Given the description of an element on the screen output the (x, y) to click on. 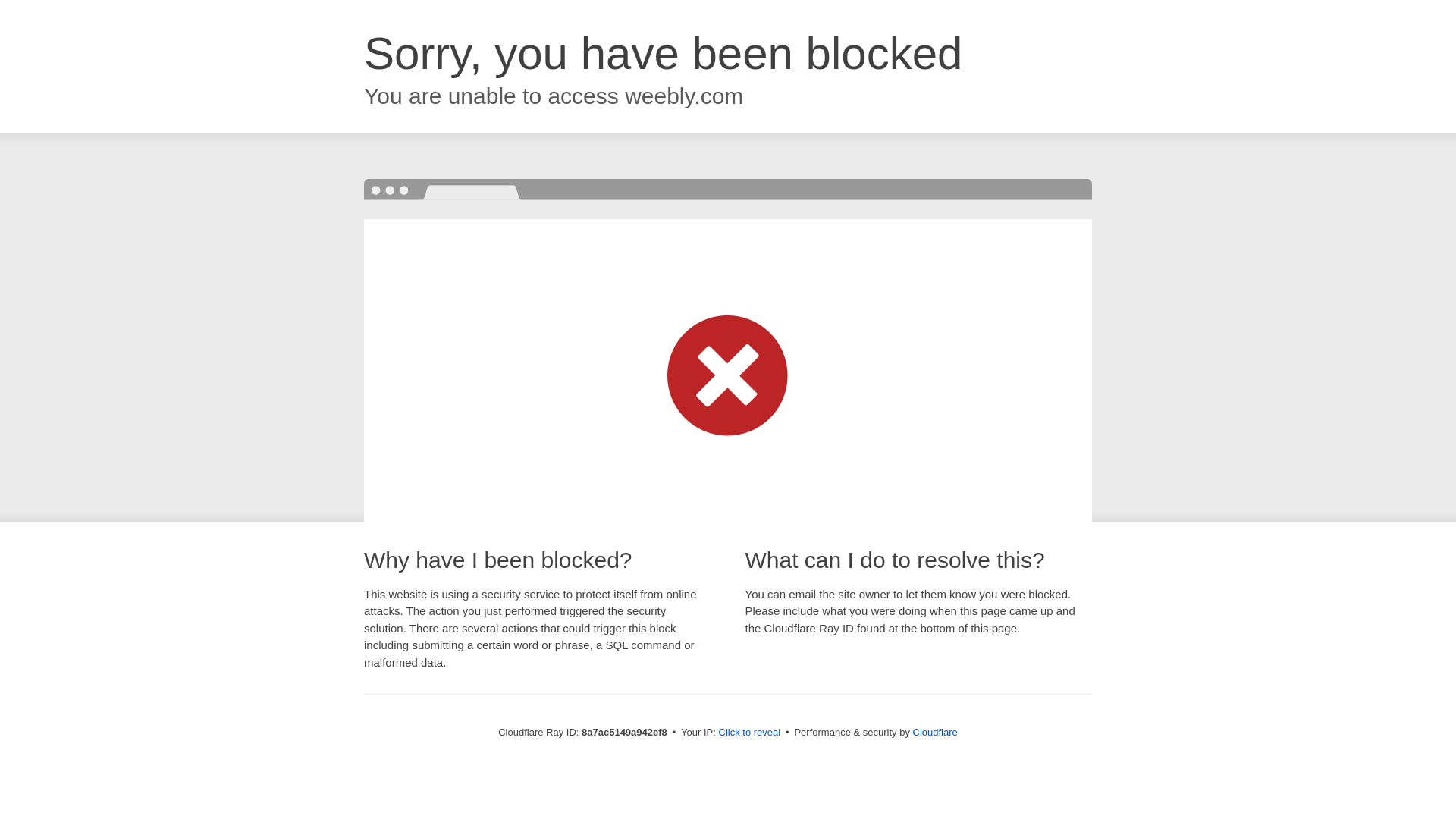
Click to reveal (749, 732)
Cloudflare (935, 731)
